Given the description of an element on the screen output the (x, y) to click on. 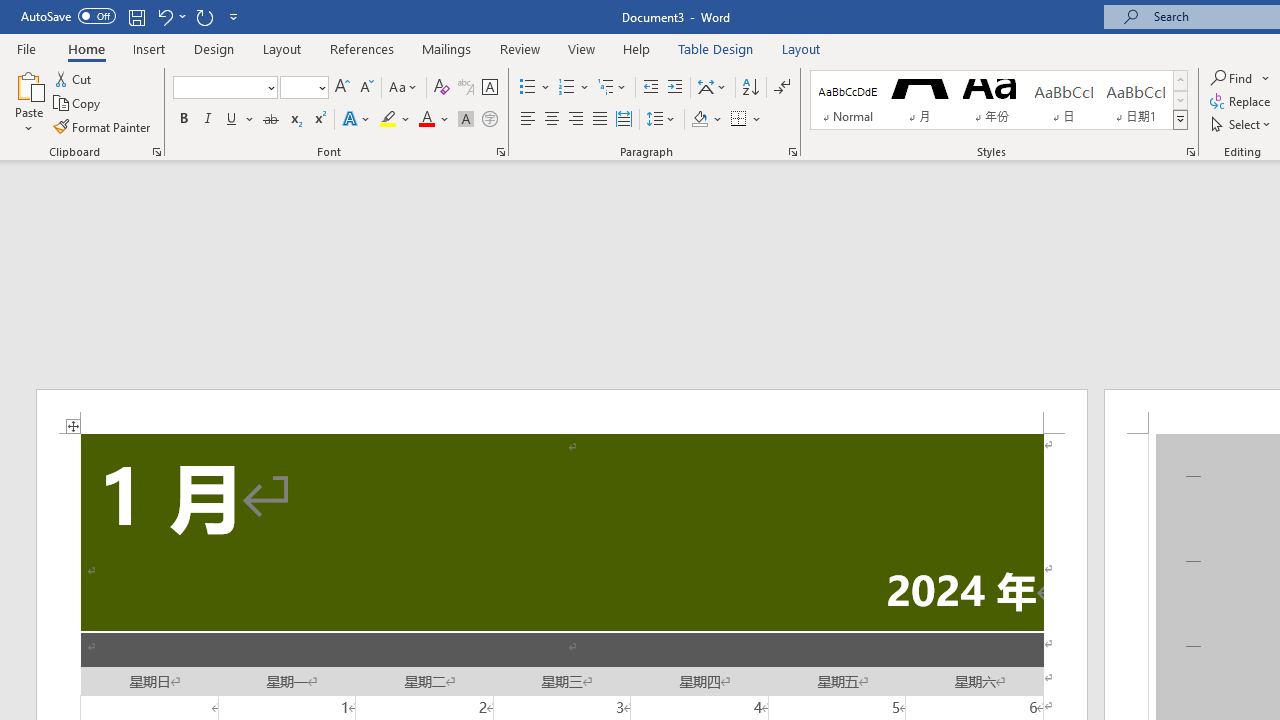
Enclose Characters... (489, 119)
Font Color RGB(255, 0, 0) (426, 119)
Clear Formatting (442, 87)
Decrease Indent (650, 87)
Line and Paragraph Spacing (661, 119)
Align Left (527, 119)
Center (552, 119)
Cut (73, 78)
Grow Font (342, 87)
